Given the description of an element on the screen output the (x, y) to click on. 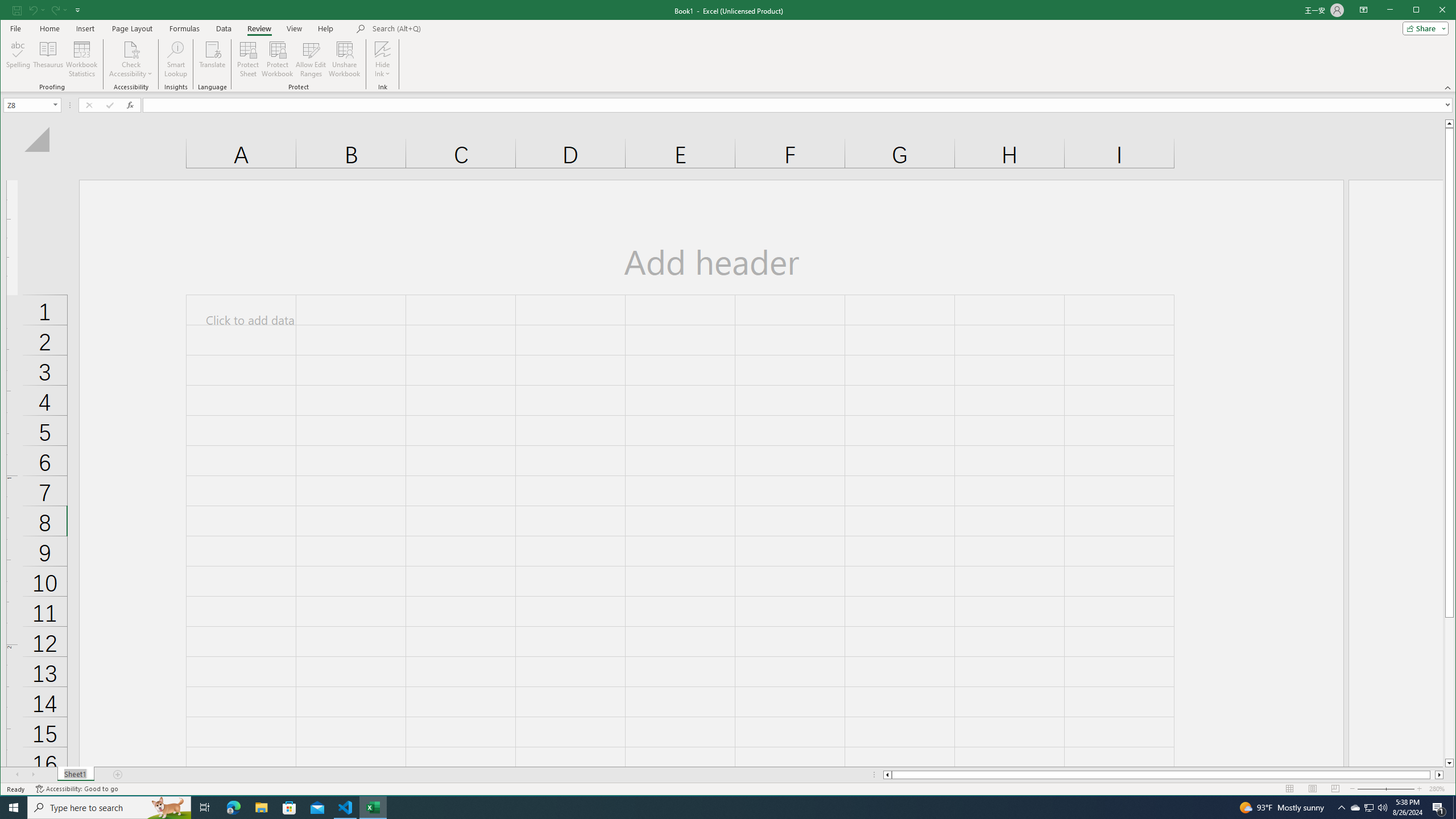
Microsoft Store (289, 807)
Sheet Tab (75, 774)
Workbook Statistics (82, 59)
Protect Sheet... (247, 59)
Unshare Workbook (344, 59)
